Given the description of an element on the screen output the (x, y) to click on. 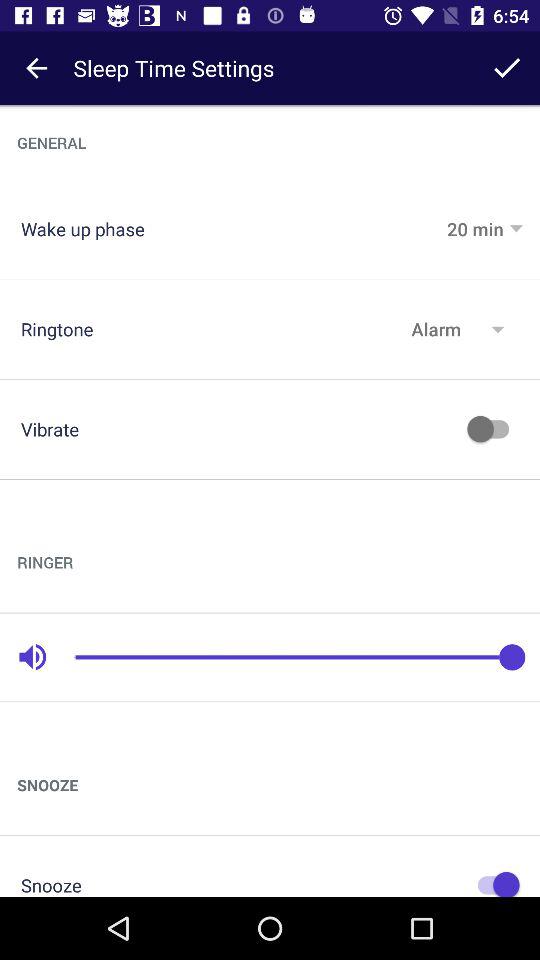
setting the vibrate (493, 429)
